Given the description of an element on the screen output the (x, y) to click on. 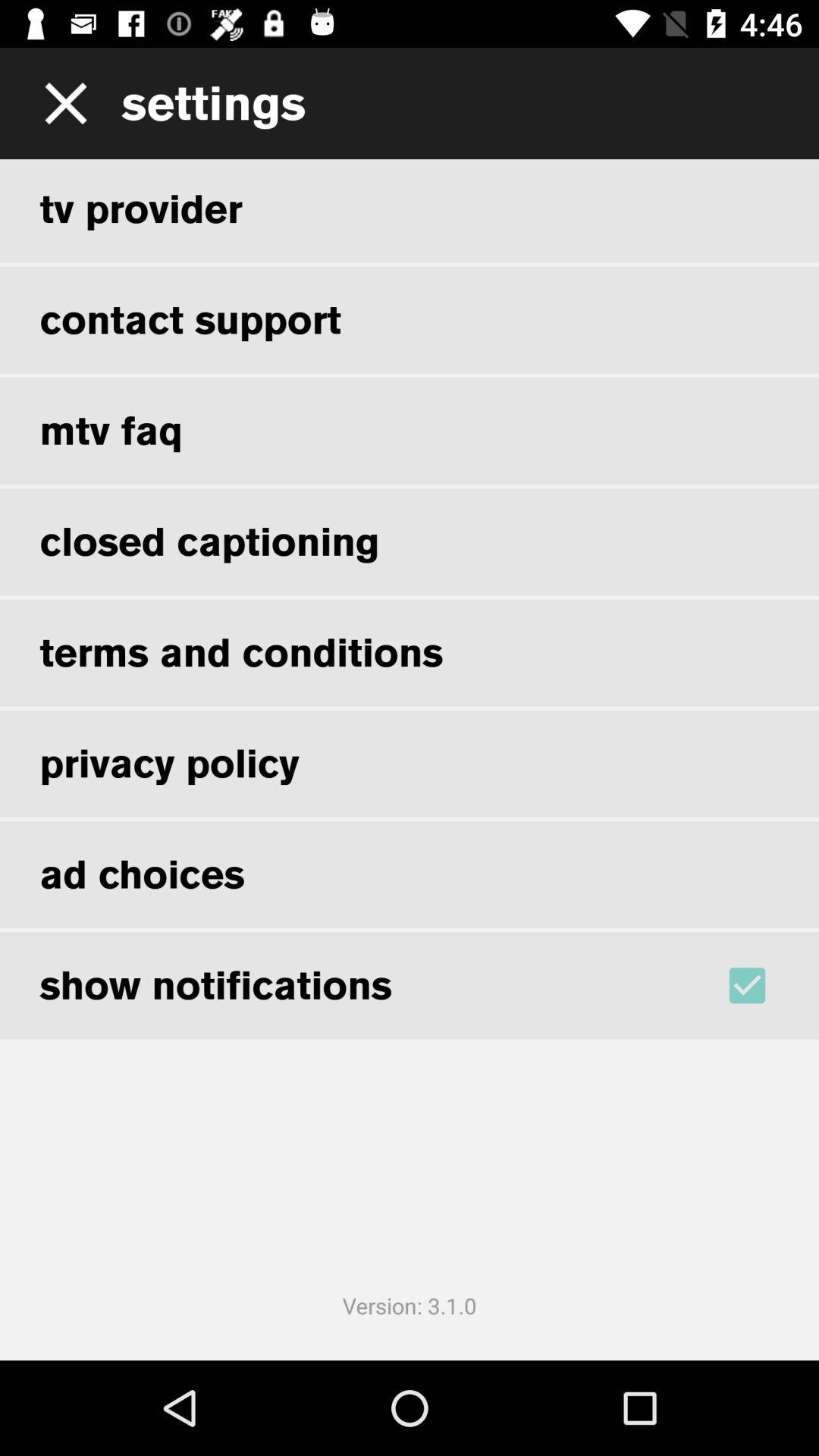
select to show notifications (767, 985)
